Given the description of an element on the screen output the (x, y) to click on. 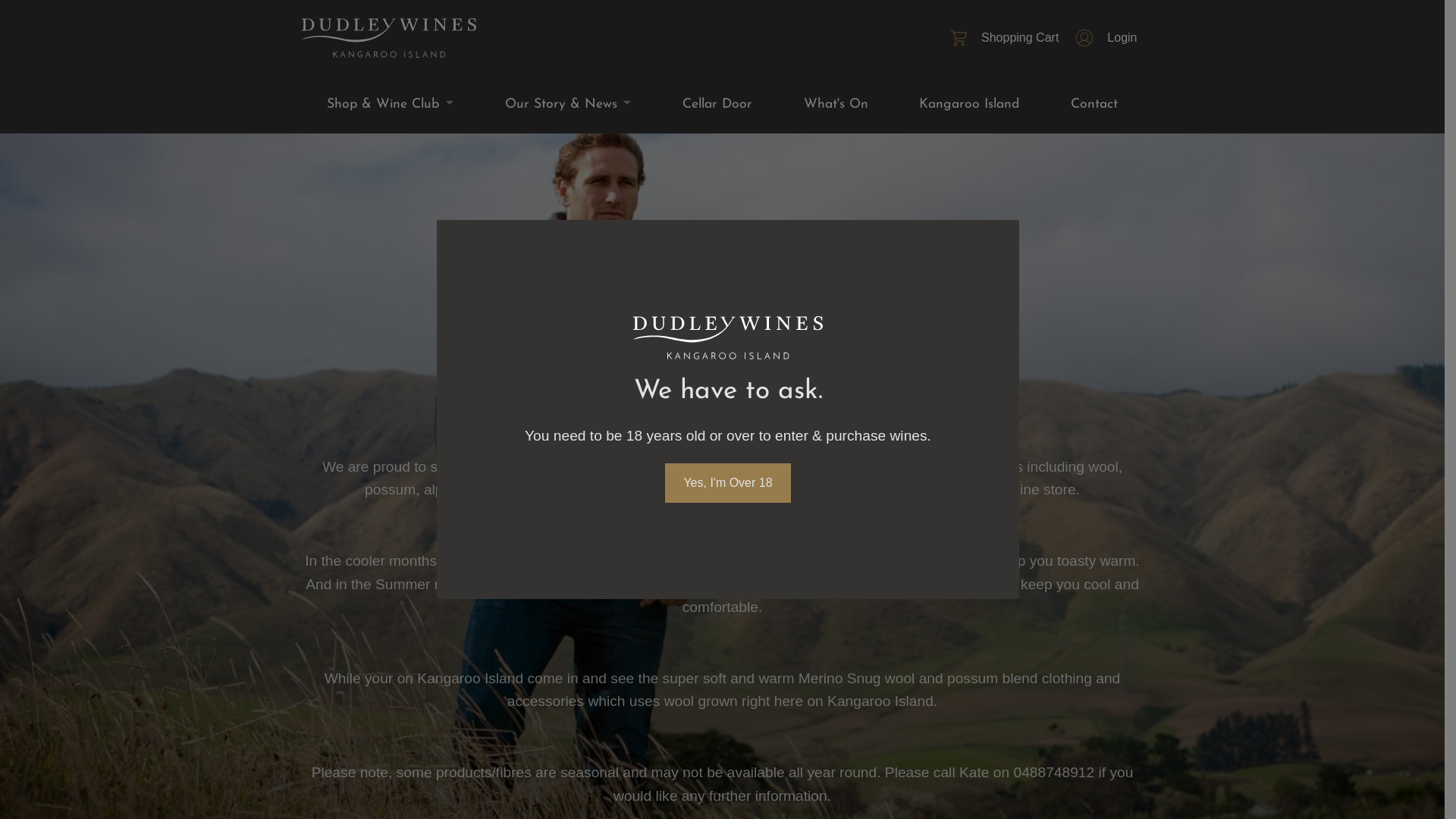
What's On Element type: text (836, 104)
Shop & Wine Club Element type: text (390, 104)
Yes, I'm Over 18 Element type: text (727, 482)
Login Element type: text (1103, 37)
Contact Element type: text (1093, 104)
Shopping Cart Element type: text (1001, 37)
Kangaroo Island Element type: text (968, 104)
Dudley Wines Logo Element type: hover (388, 37)
Cellar Door Element type: text (717, 104)
Our Story & News Element type: text (567, 104)
